Given the description of an element on the screen output the (x, y) to click on. 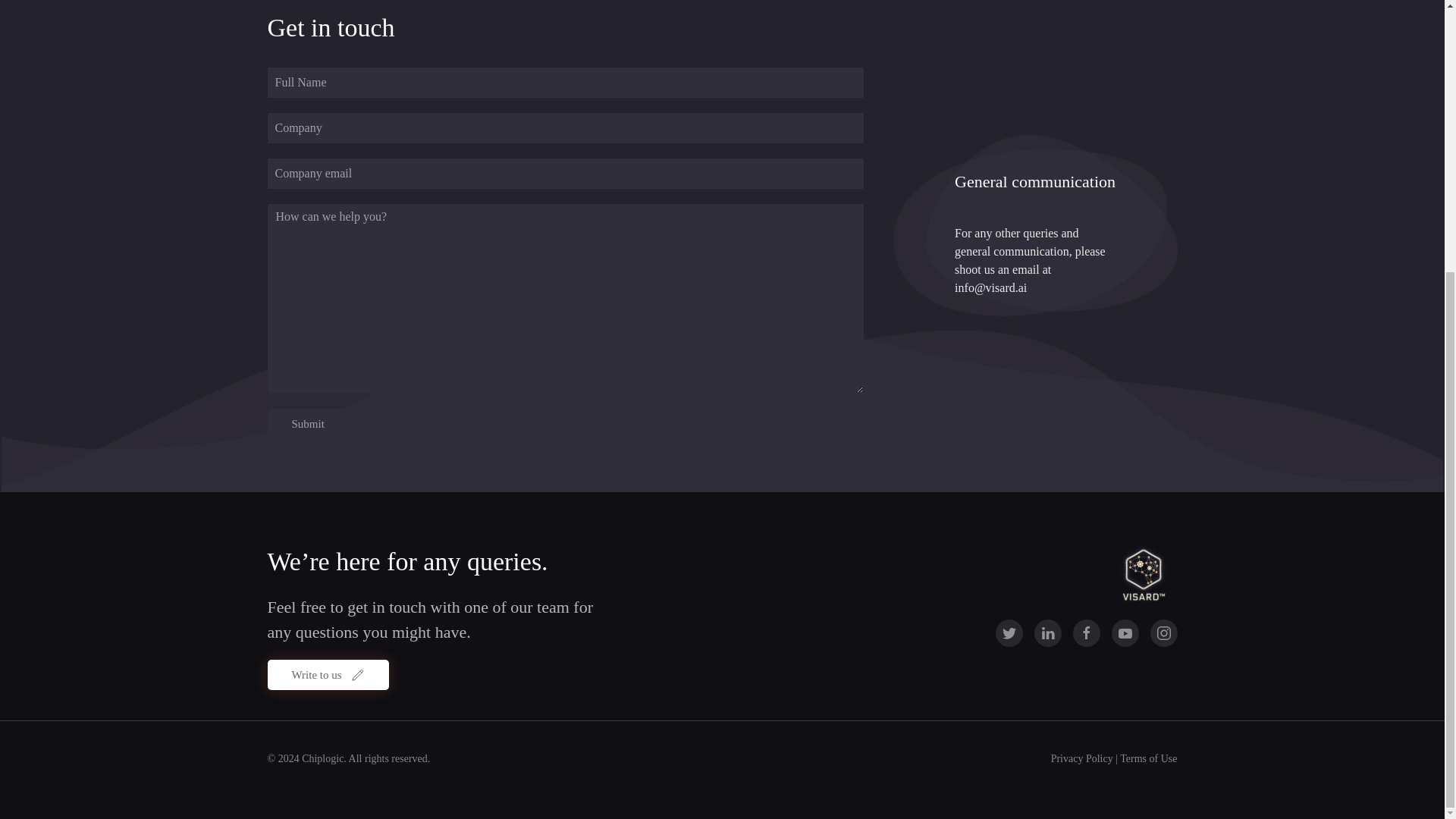
Write to us (327, 675)
Submit (306, 423)
